Given the description of an element on the screen output the (x, y) to click on. 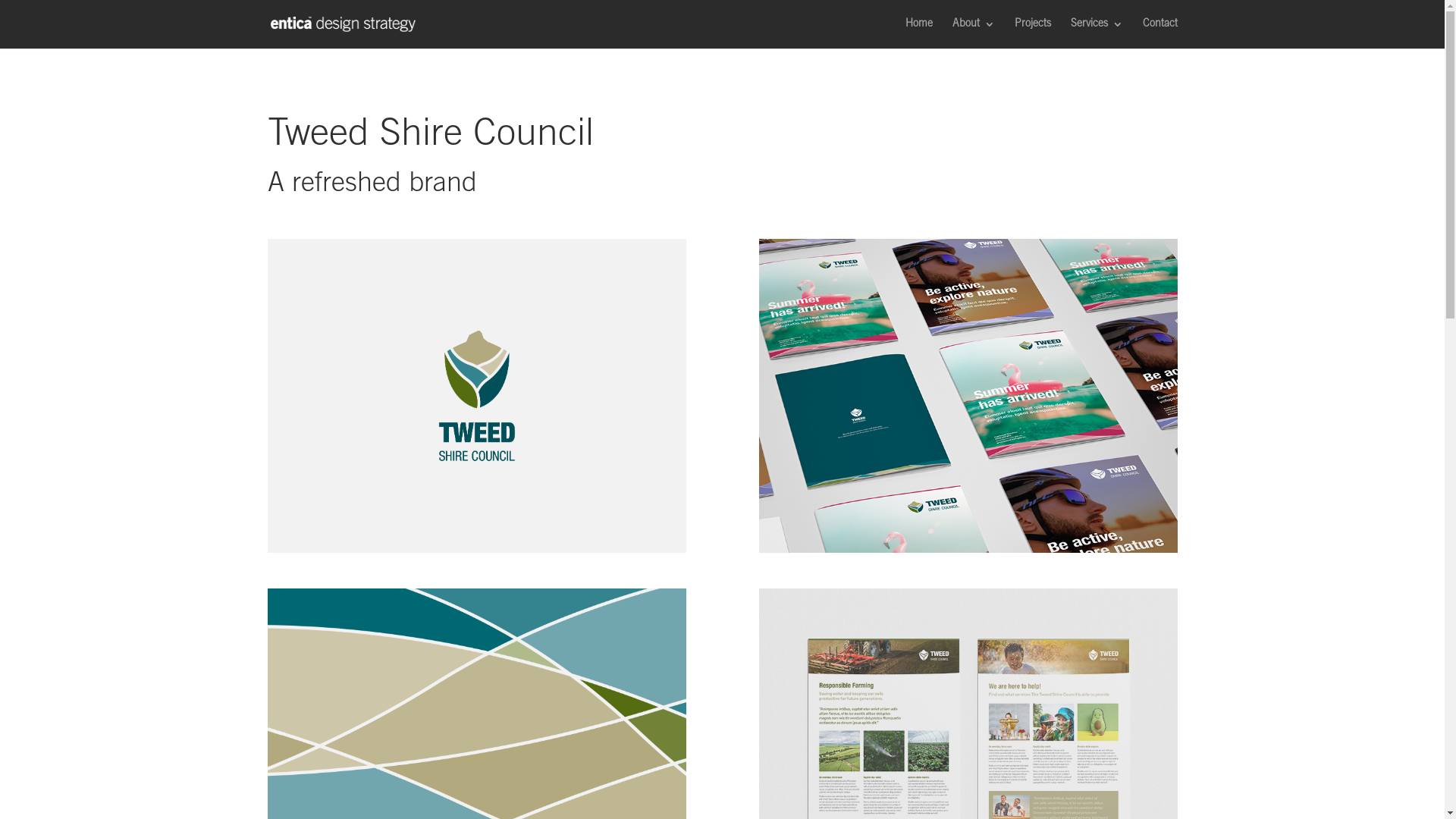
About Element type: text (973, 33)
Home Element type: text (918, 33)
Projects Element type: text (1032, 33)
LOGO-01 Element type: hover (475, 395)
Mockups Design Element type: hover (967, 395)
Services Element type: text (1096, 33)
Contact Element type: text (1159, 33)
